Given the description of an element on the screen output the (x, y) to click on. 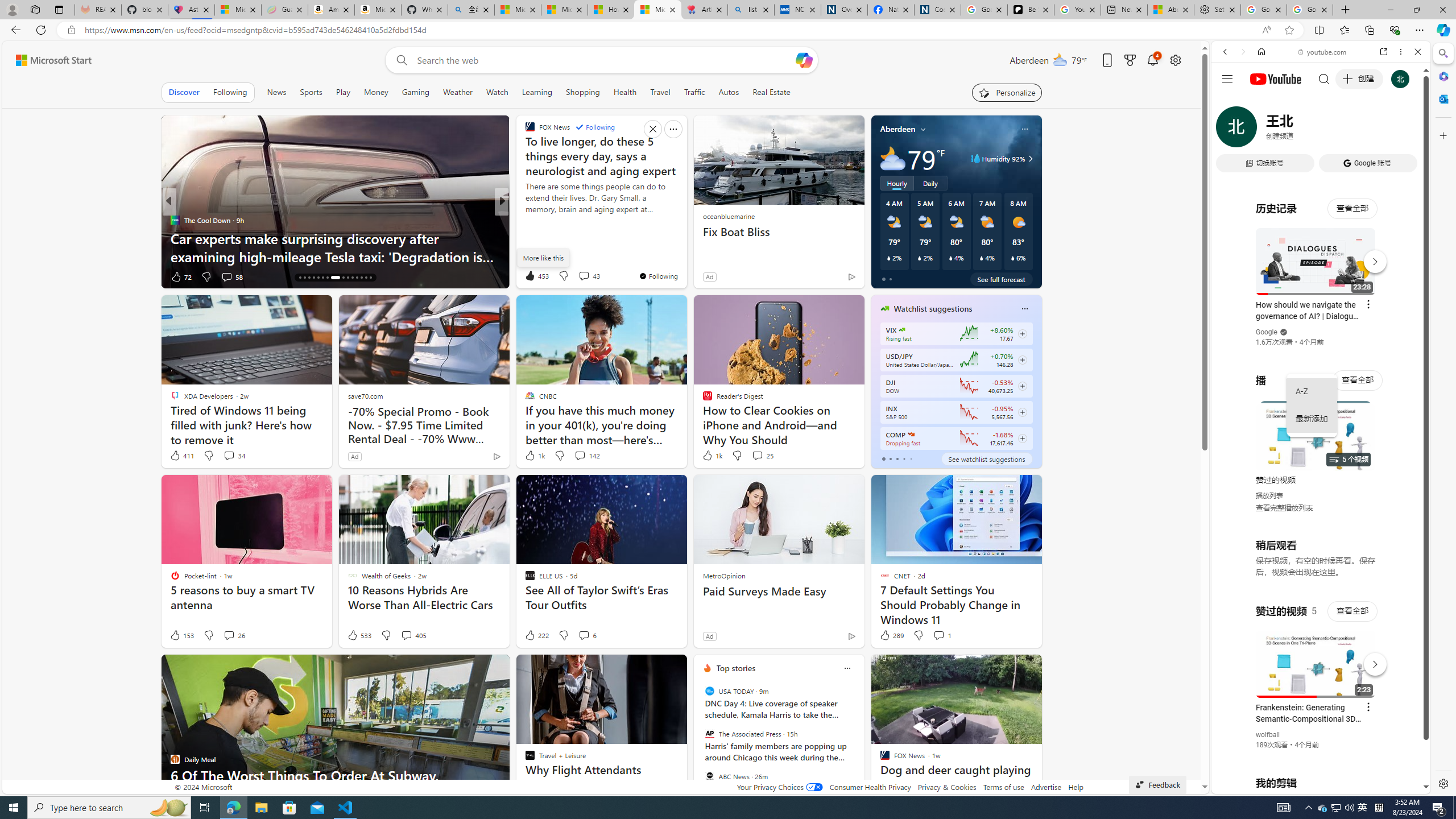
next (858, 741)
View comments 197 Comment (580, 276)
Search videos from youtube.com (1299, 373)
View comments 3 Comment (226, 276)
411 Like (181, 455)
